Given the description of an element on the screen output the (x, y) to click on. 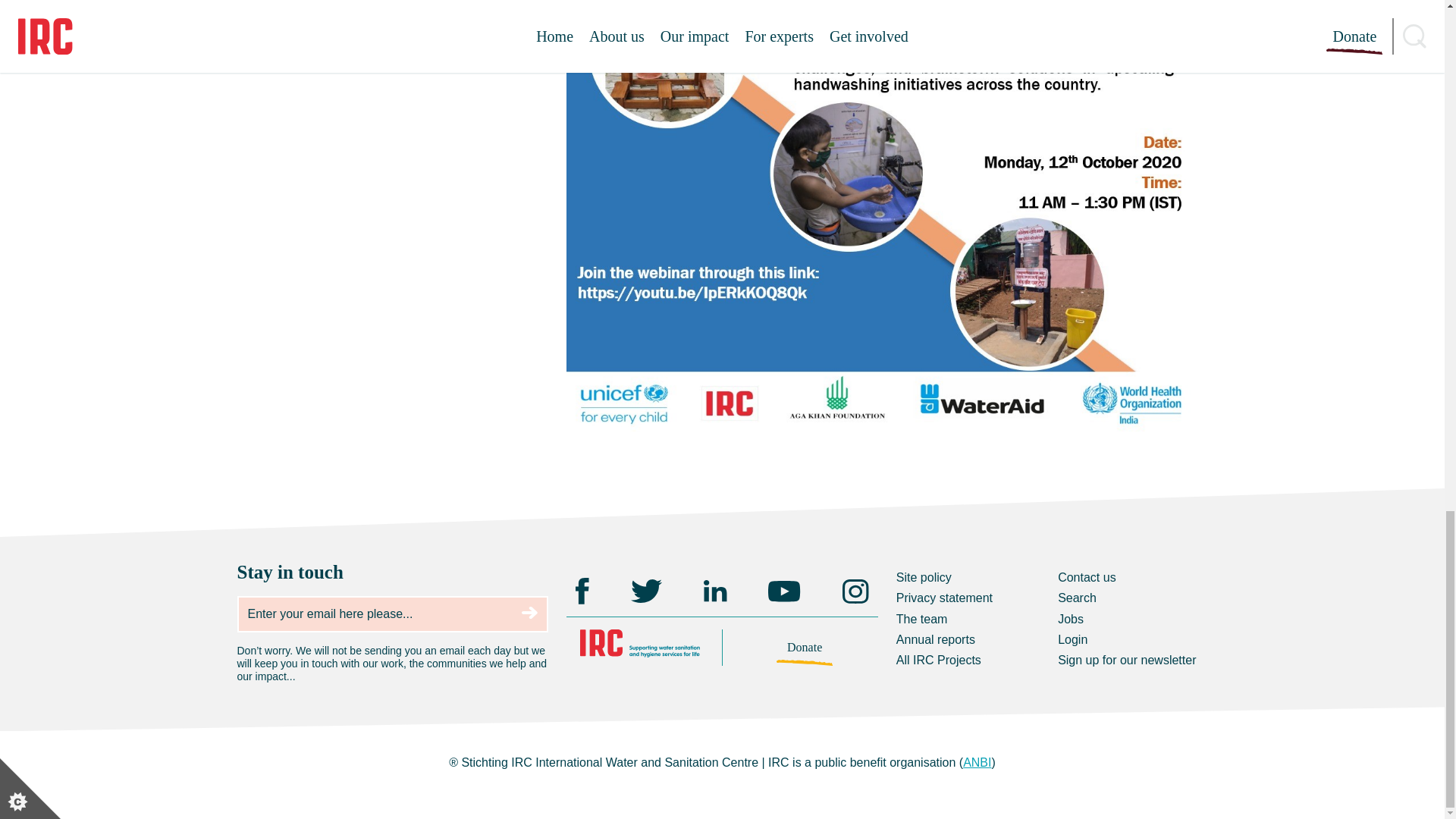
Donate (805, 647)
Privacy statement (944, 597)
Login (1072, 639)
Search (1077, 597)
All IRC Projects (938, 659)
The team (921, 618)
Sign up for our newsletter (1126, 659)
Site policy (924, 576)
Contact us (1086, 576)
Annual reports (935, 639)
Jobs (1070, 618)
